Given the description of an element on the screen output the (x, y) to click on. 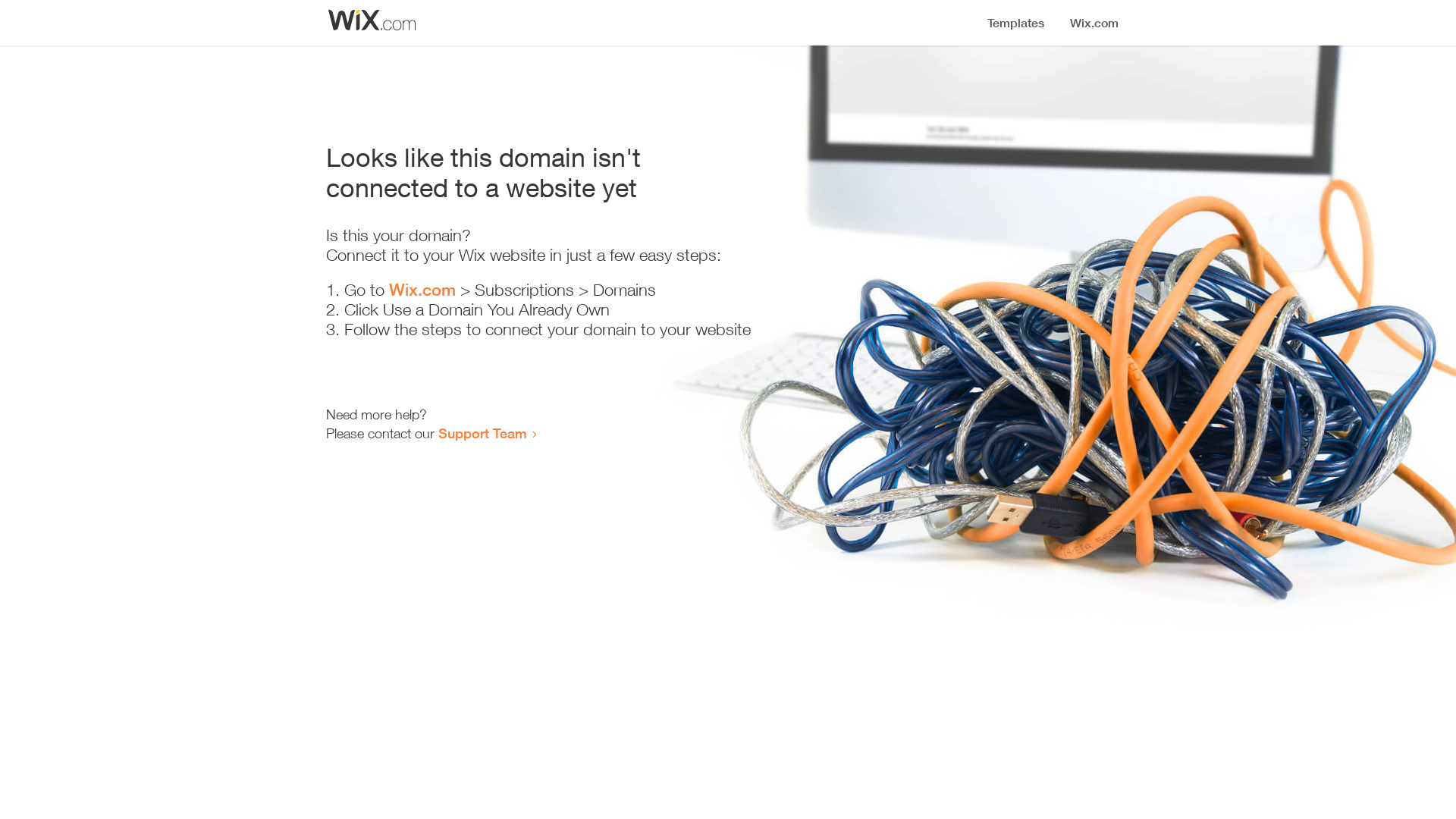
Support Team Element type: text (482, 432)
Wix.com Element type: text (422, 289)
